Given the description of an element on the screen output the (x, y) to click on. 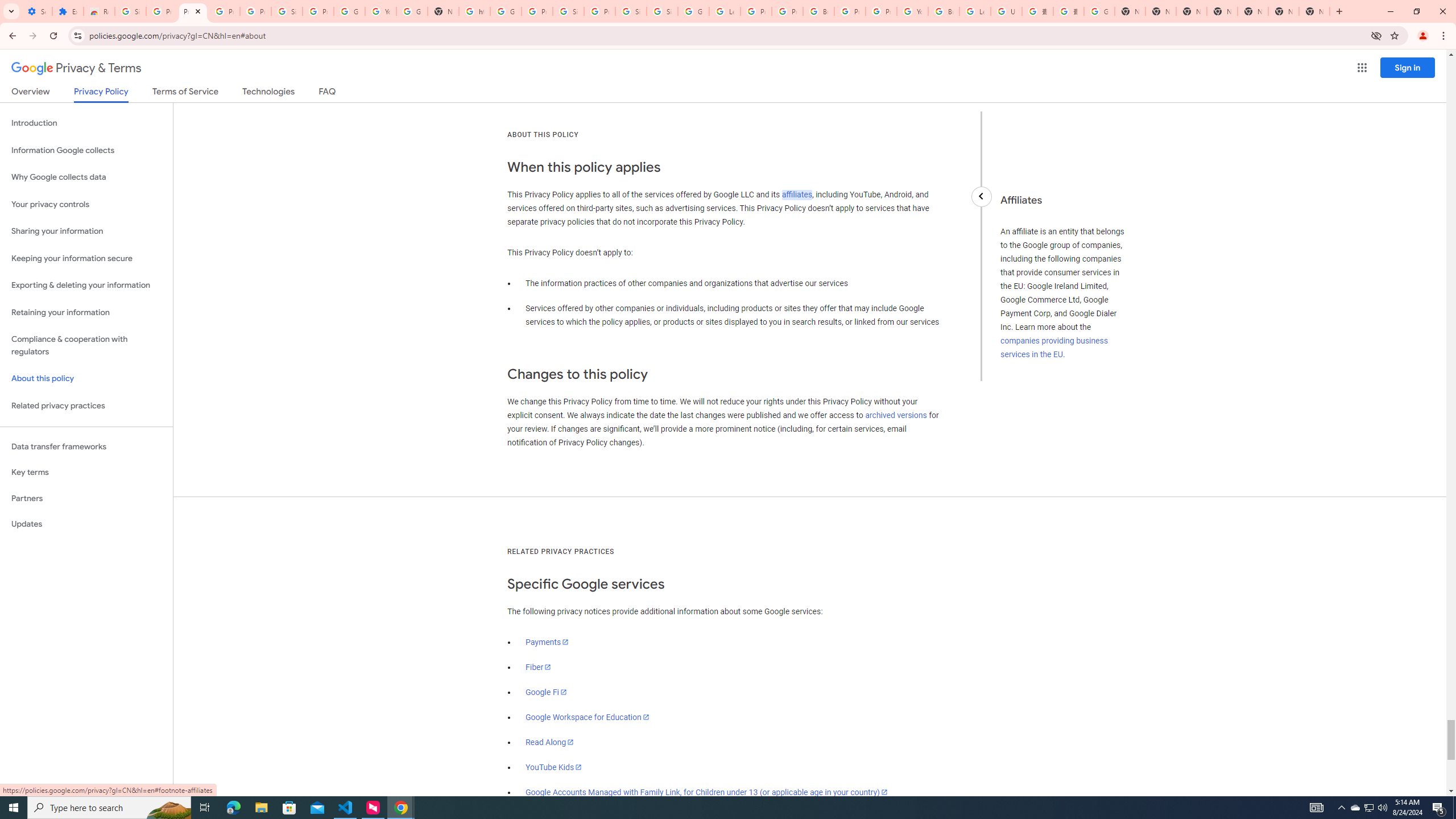
YouTube Kids (553, 767)
New Tab (1314, 11)
archived versions (895, 415)
